Given the description of an element on the screen output the (x, y) to click on. 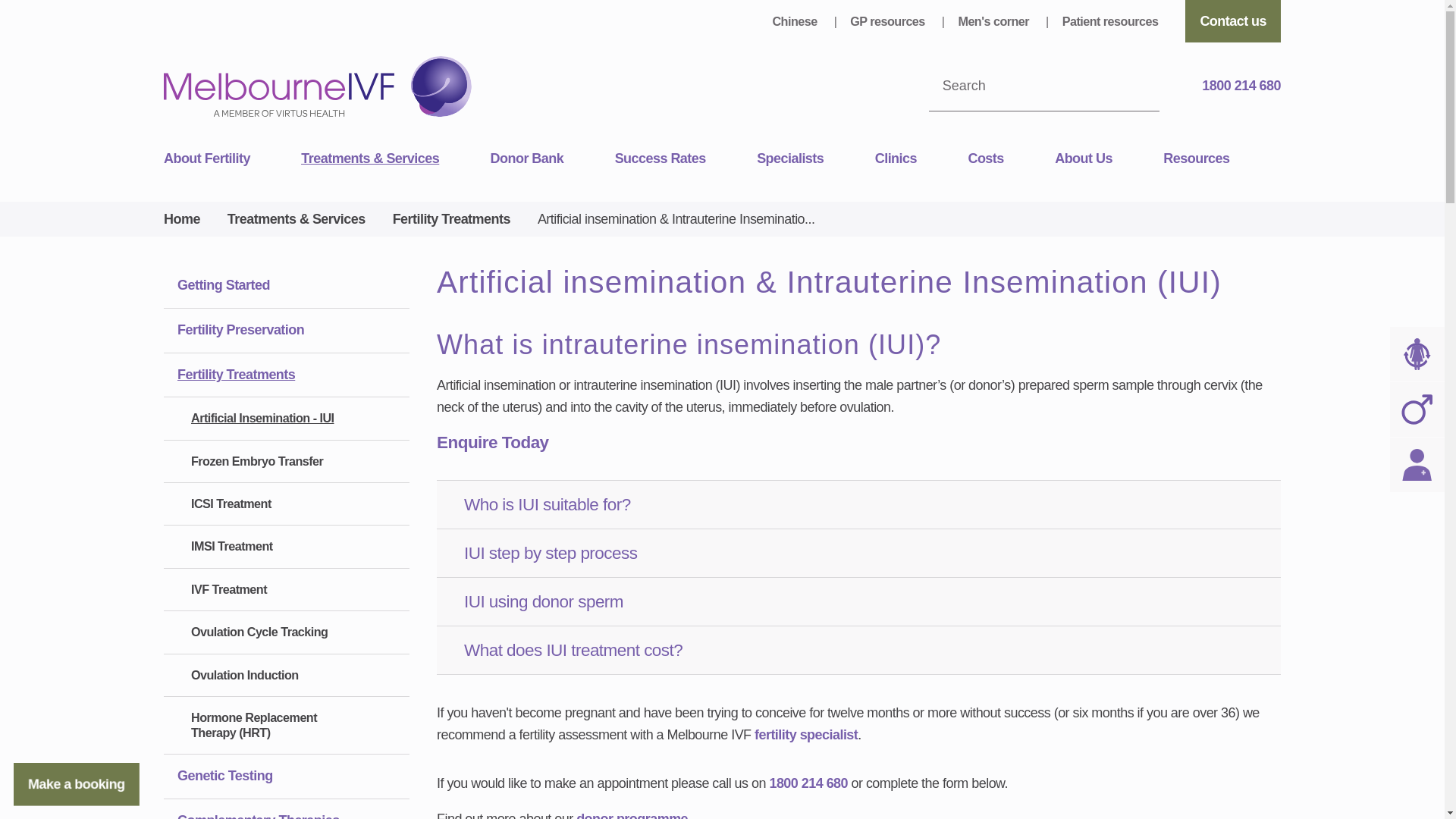
Chinese (795, 20)
Contact us (1233, 21)
Patient resources (1110, 20)
GP resources (888, 20)
1800 214 680 (1233, 85)
Men's corner (995, 20)
About Fertility (232, 159)
